Given the description of an element on the screen output the (x, y) to click on. 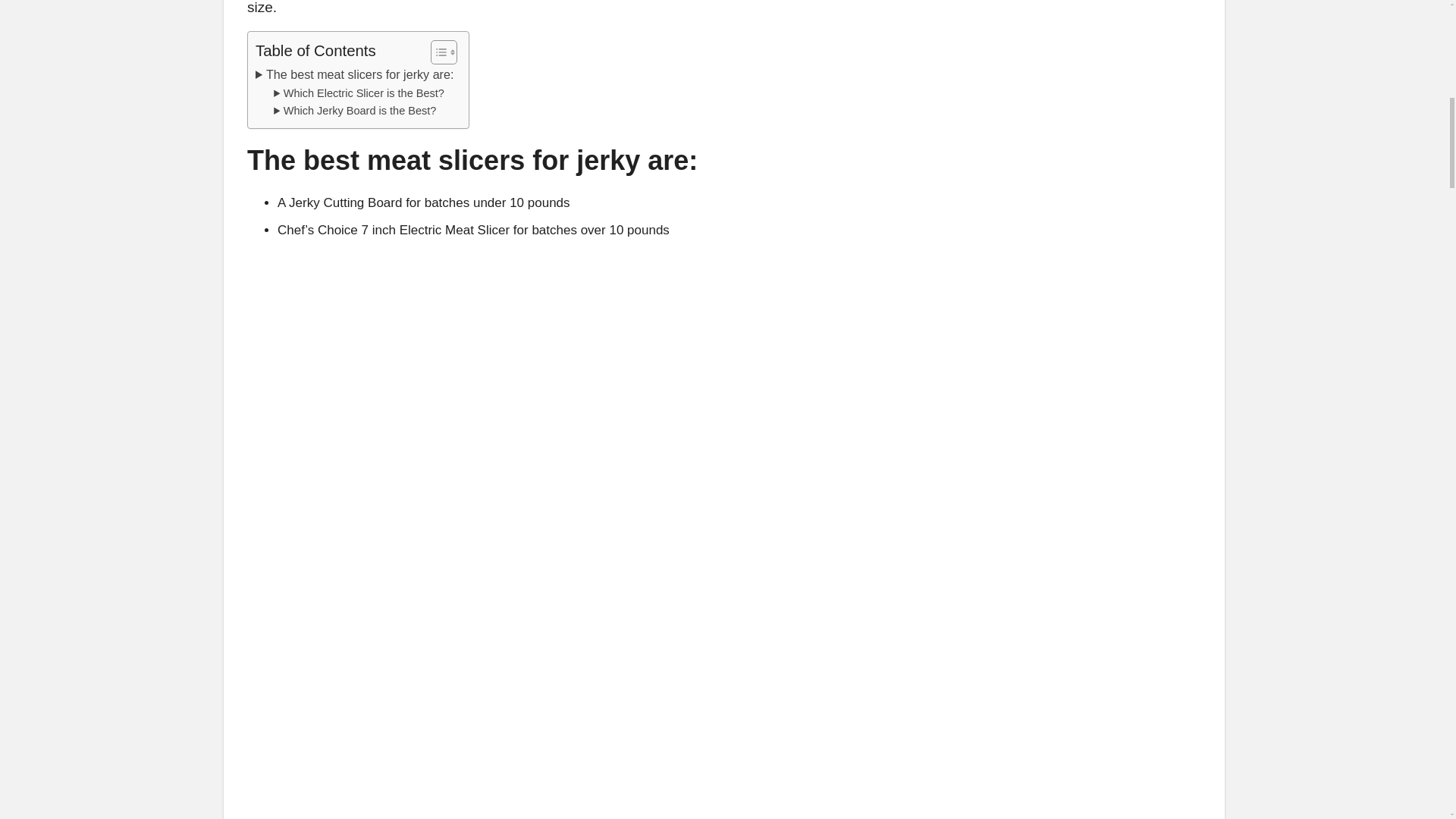
Which Jerky Board is the Best? (354, 110)
Which Electric Slicer is the Best? (358, 93)
The best meat slicers for jerky are: (354, 75)
